Given the description of an element on the screen output the (x, y) to click on. 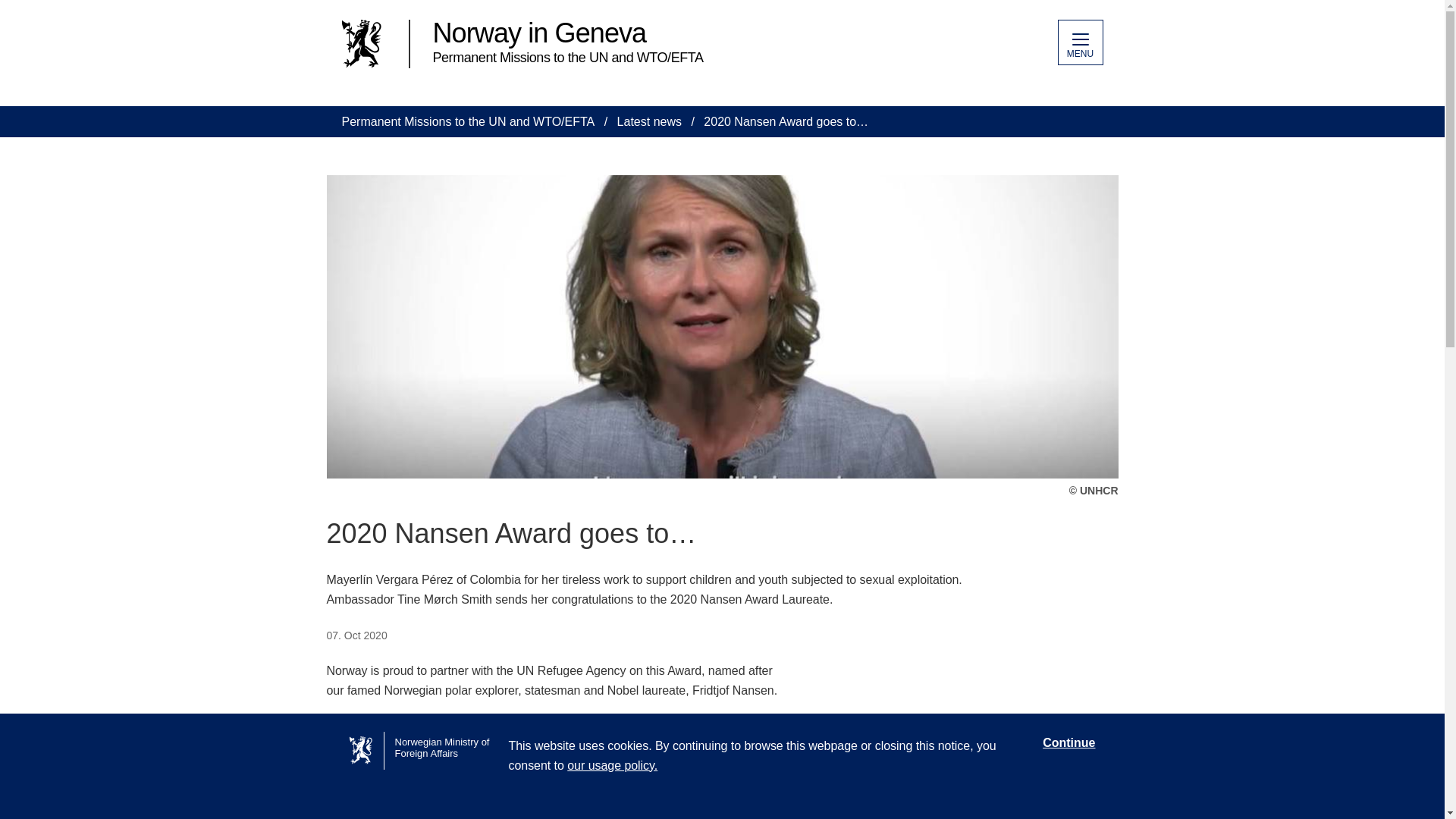
MENU (1079, 42)
our usage policy. (612, 765)
Latest news (649, 121)
Latest news (649, 121)
Continue (1068, 743)
